Given the description of an element on the screen output the (x, y) to click on. 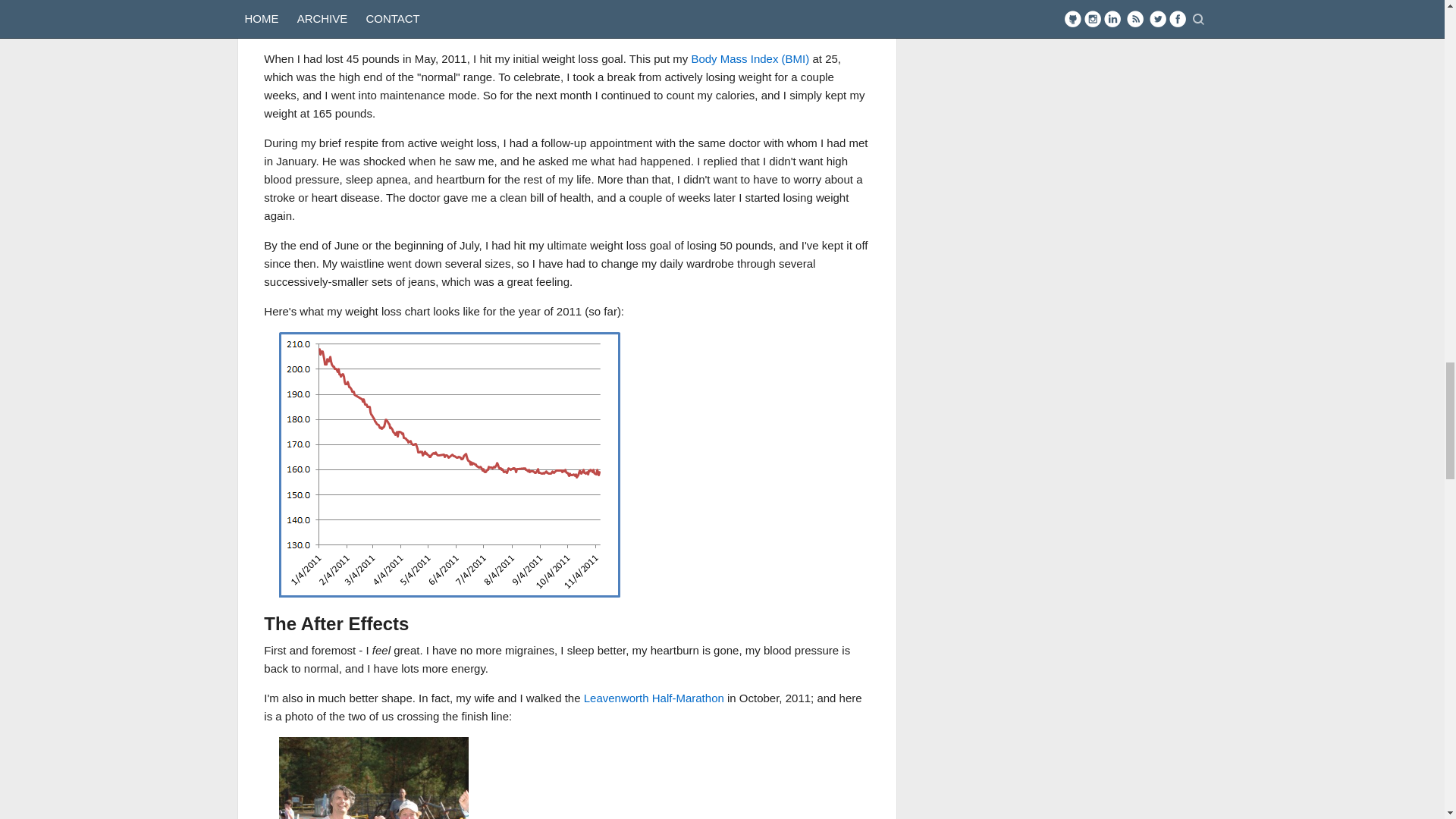
Leavenworth Half-Marathon (653, 697)
